Given the description of an element on the screen output the (x, y) to click on. 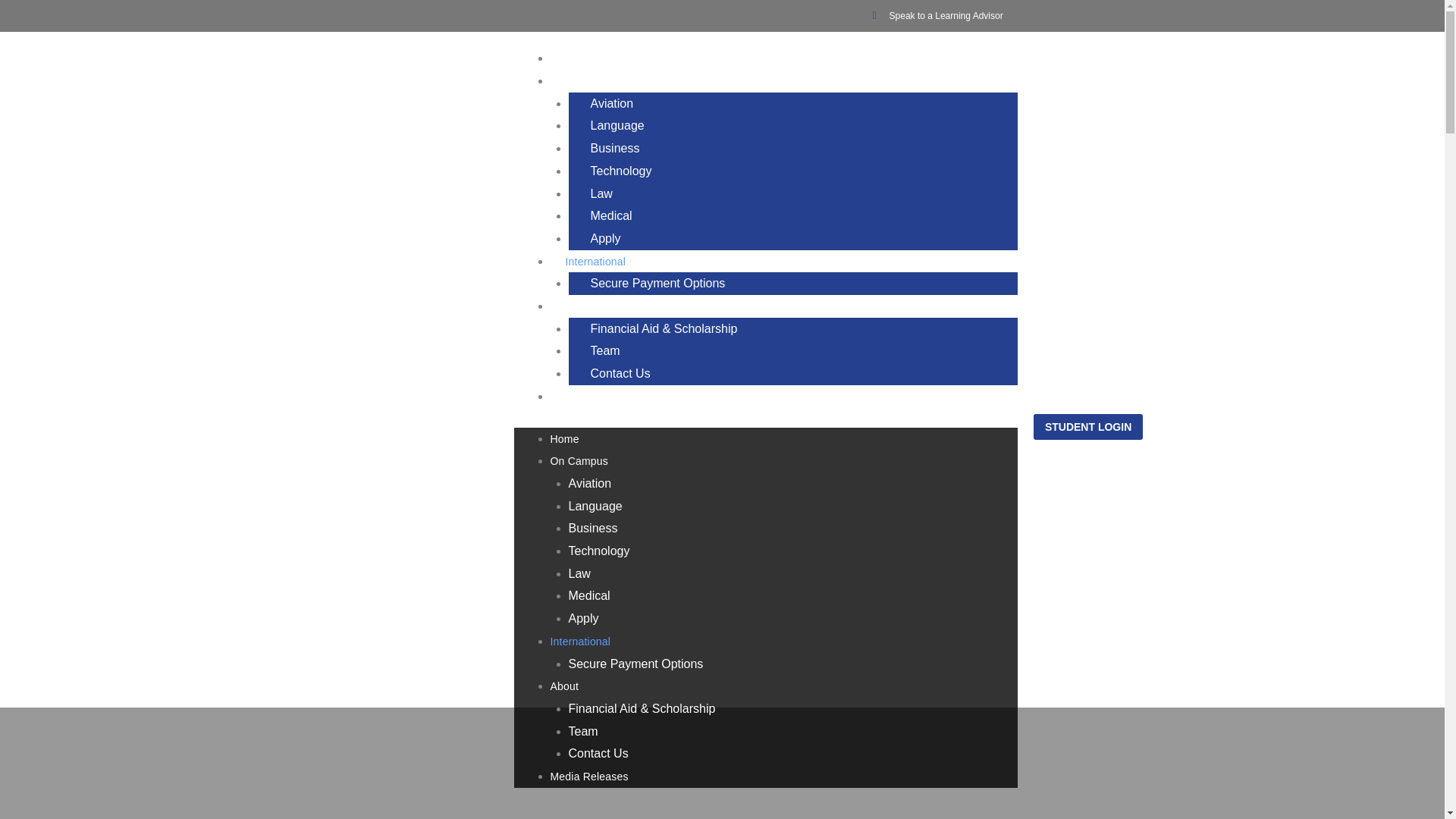
Law (580, 573)
Apply (583, 617)
Team (605, 350)
Contact Us (598, 753)
On Campus (579, 460)
Aviation (590, 482)
About (580, 306)
Apply (606, 238)
Medical (611, 215)
STUDENT LOGIN (1087, 426)
Medical (589, 594)
Language (596, 505)
Technology (621, 170)
Media Releases (604, 396)
Business (593, 527)
